Given the description of an element on the screen output the (x, y) to click on. 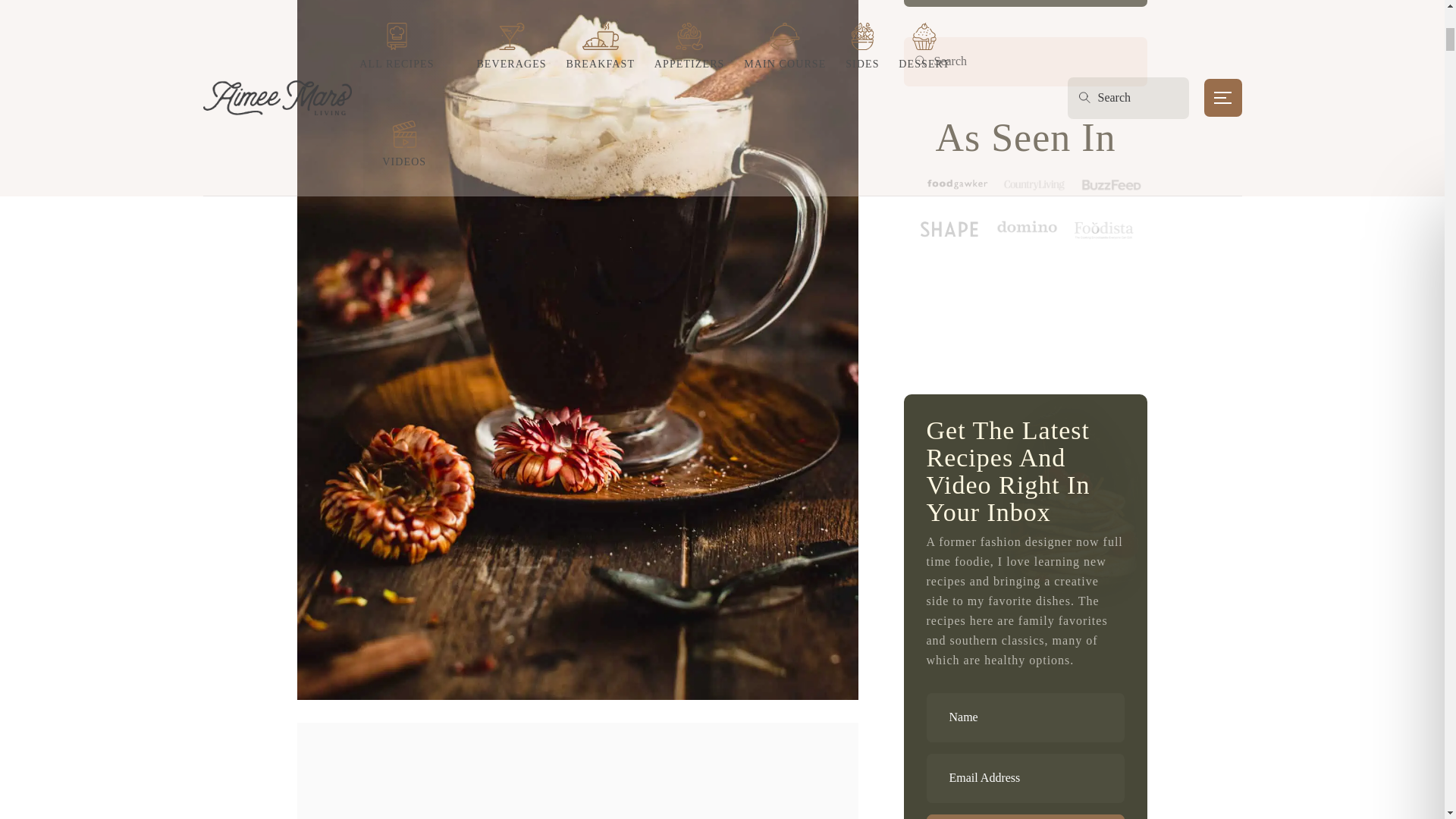
SUBSCRIBE (1025, 816)
